Given the description of an element on the screen output the (x, y) to click on. 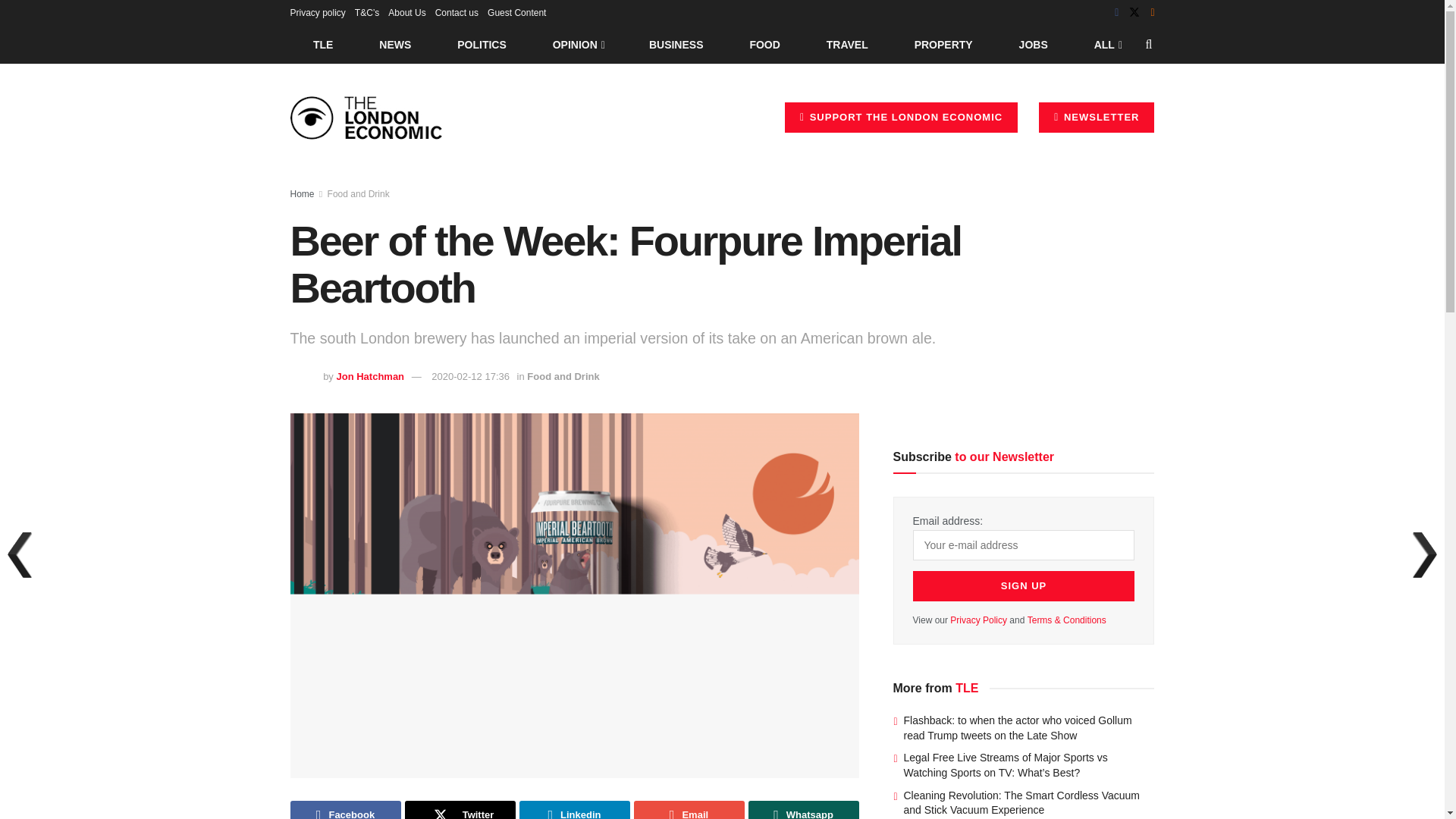
Home (301, 194)
Privacy policy (317, 12)
Contact us (457, 12)
NEWS (394, 44)
PROPERTY (943, 44)
Sign up (1023, 585)
OPINION (577, 44)
TRAVEL (847, 44)
TLE (322, 44)
SUPPORT THE LONDON ECONOMIC (900, 117)
